Given the description of an element on the screen output the (x, y) to click on. 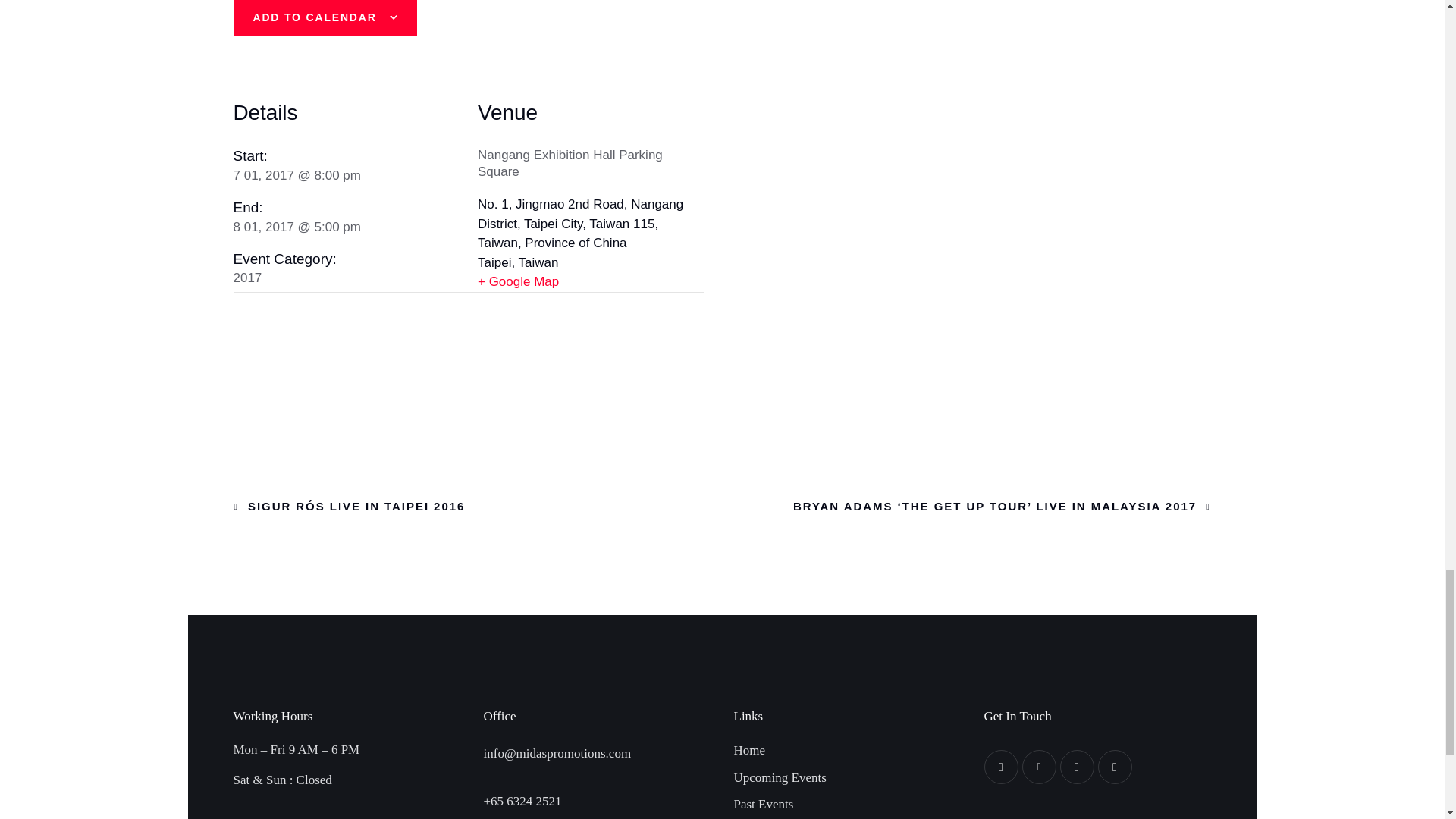
2017 (247, 278)
Click to view a Google Map (590, 281)
2017-01-08 (296, 227)
2017-01-07 (296, 175)
ADD TO CALENDAR (315, 17)
Nangang Exhibition Hall Parking Square (569, 163)
